Given the description of an element on the screen output the (x, y) to click on. 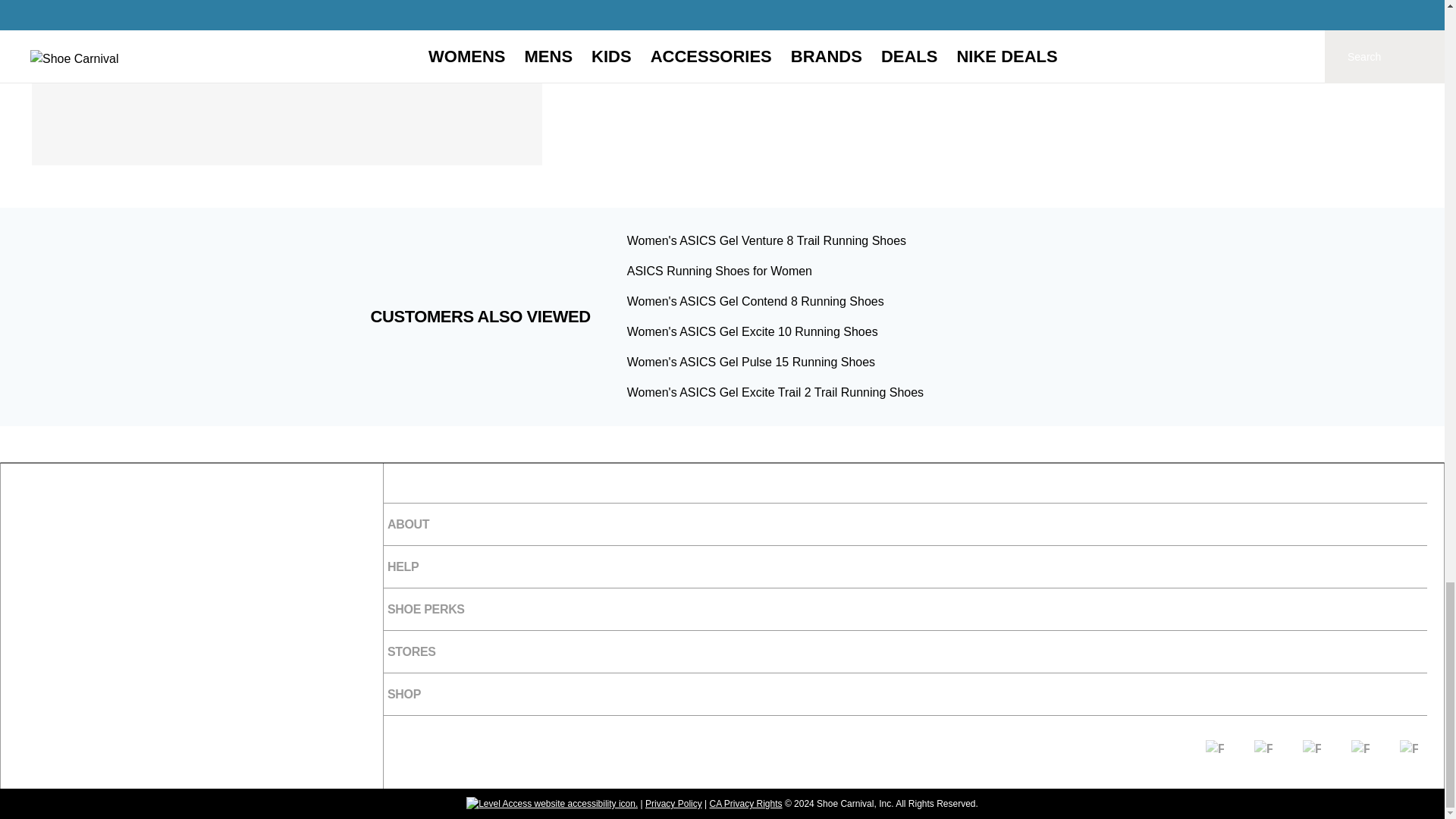
Shoe Carnival Privacy Policy (673, 803)
Women's ASICS Gel Pulse 15 Running Shoes (751, 361)
Women's ASICS Gel Contend 8 Running Shoes (755, 300)
Women's ASICS Gel Excite 10 Running Shoes (752, 331)
Women's ASICS Gel Venture 8 Trail Running Shoes (766, 240)
ASICS Running Shoes for Women (719, 270)
